Given the description of an element on the screen output the (x, y) to click on. 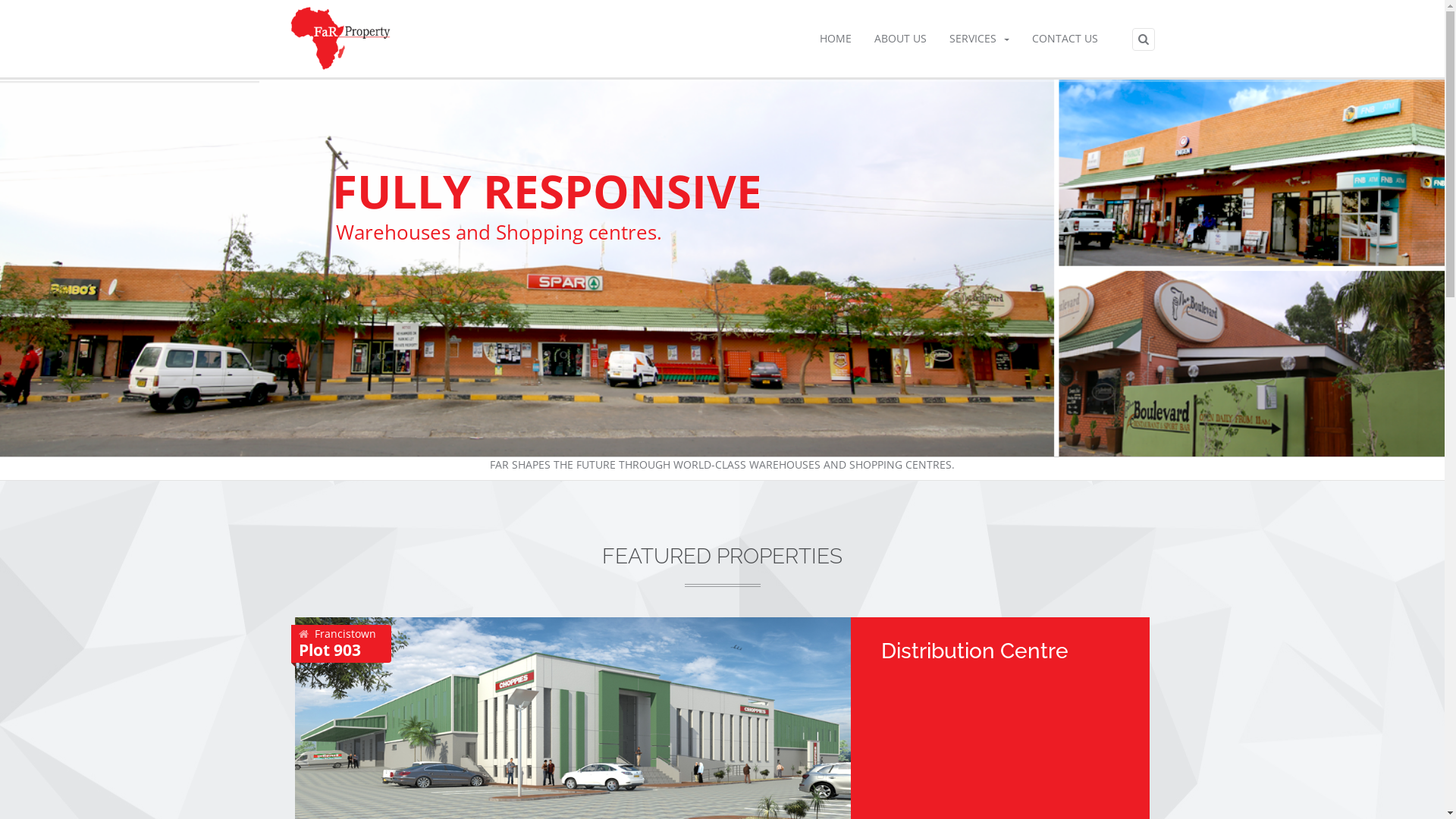
ABOUT US Element type: text (900, 38)
HOME Element type: text (835, 38)
SERVICES Element type: text (978, 38)
Distribution Centre Element type: text (974, 650)
CONTACT US Element type: text (1064, 38)
